Given the description of an element on the screen output the (x, y) to click on. 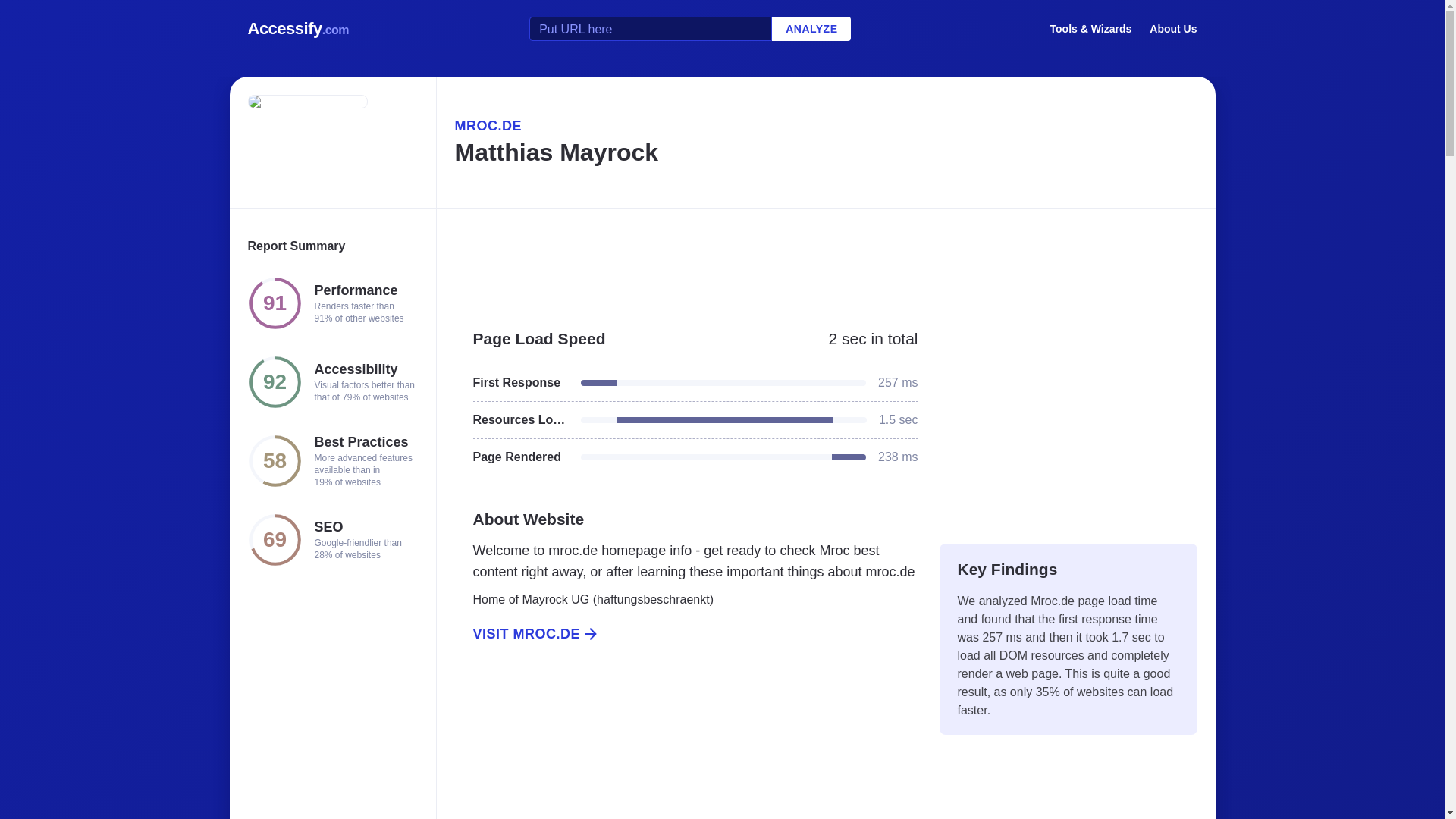
MROC.DE (825, 126)
ANALYZE (810, 28)
VISIT MROC.DE (686, 633)
About Us (1173, 28)
Accessify.com (298, 28)
